Given the description of an element on the screen output the (x, y) to click on. 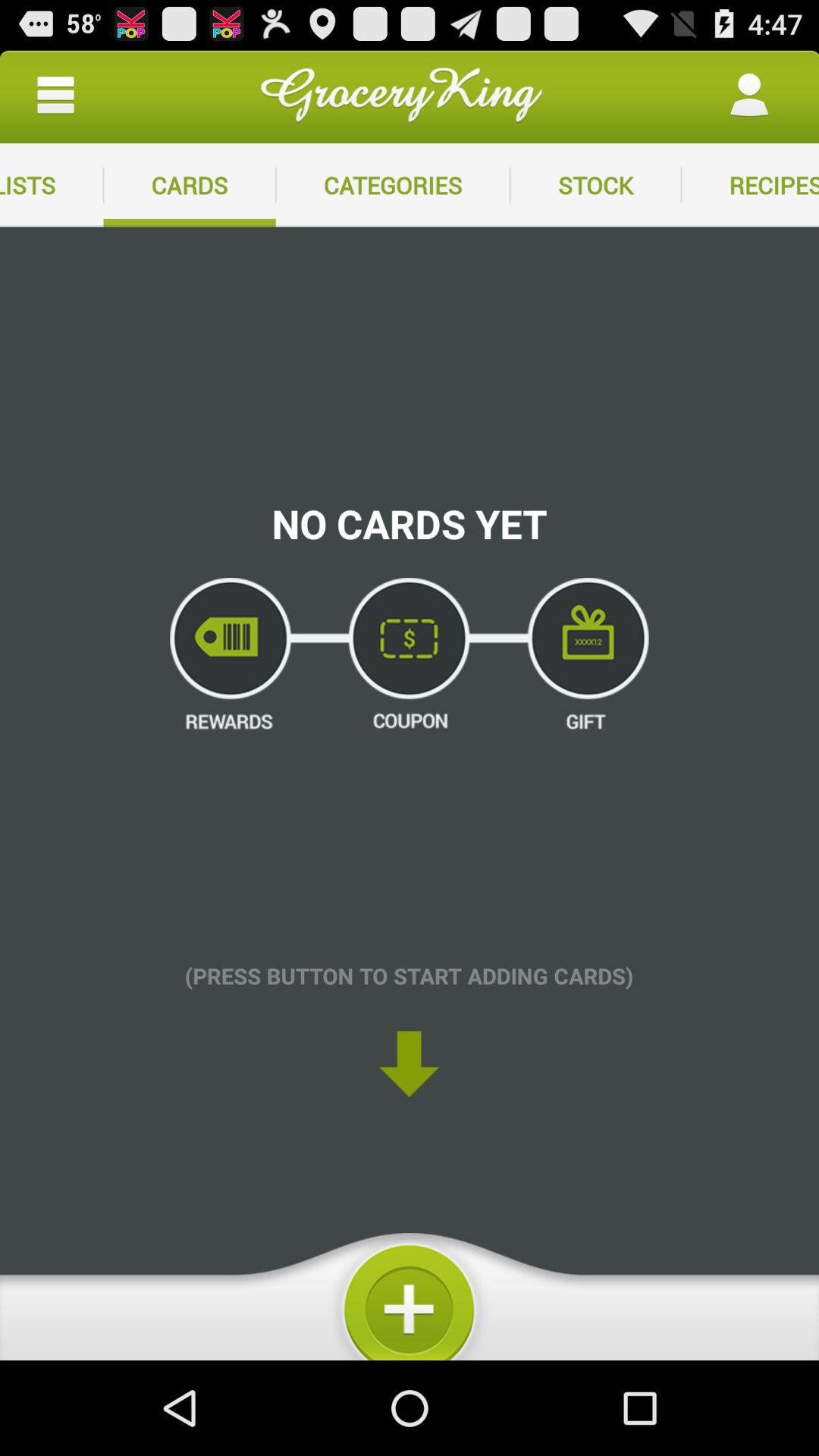
tap the icon to the right of stock (750, 184)
